Given the description of an element on the screen output the (x, y) to click on. 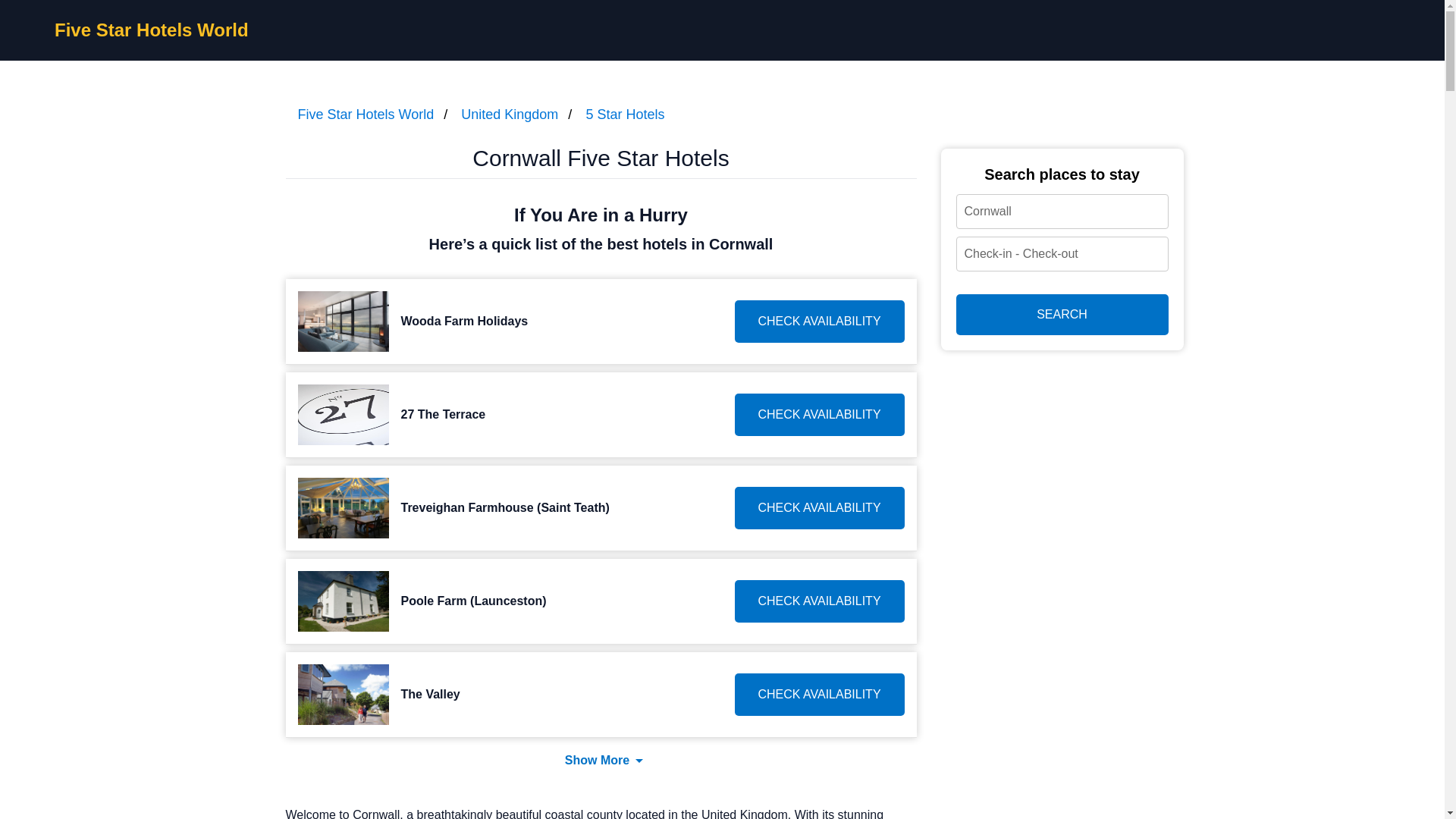
SEARCH (1061, 314)
Five Star Hotels World (151, 29)
Five Star Hotels World (365, 114)
5 Star Hotels (624, 114)
United Kingdom (509, 114)
